Given the description of an element on the screen output the (x, y) to click on. 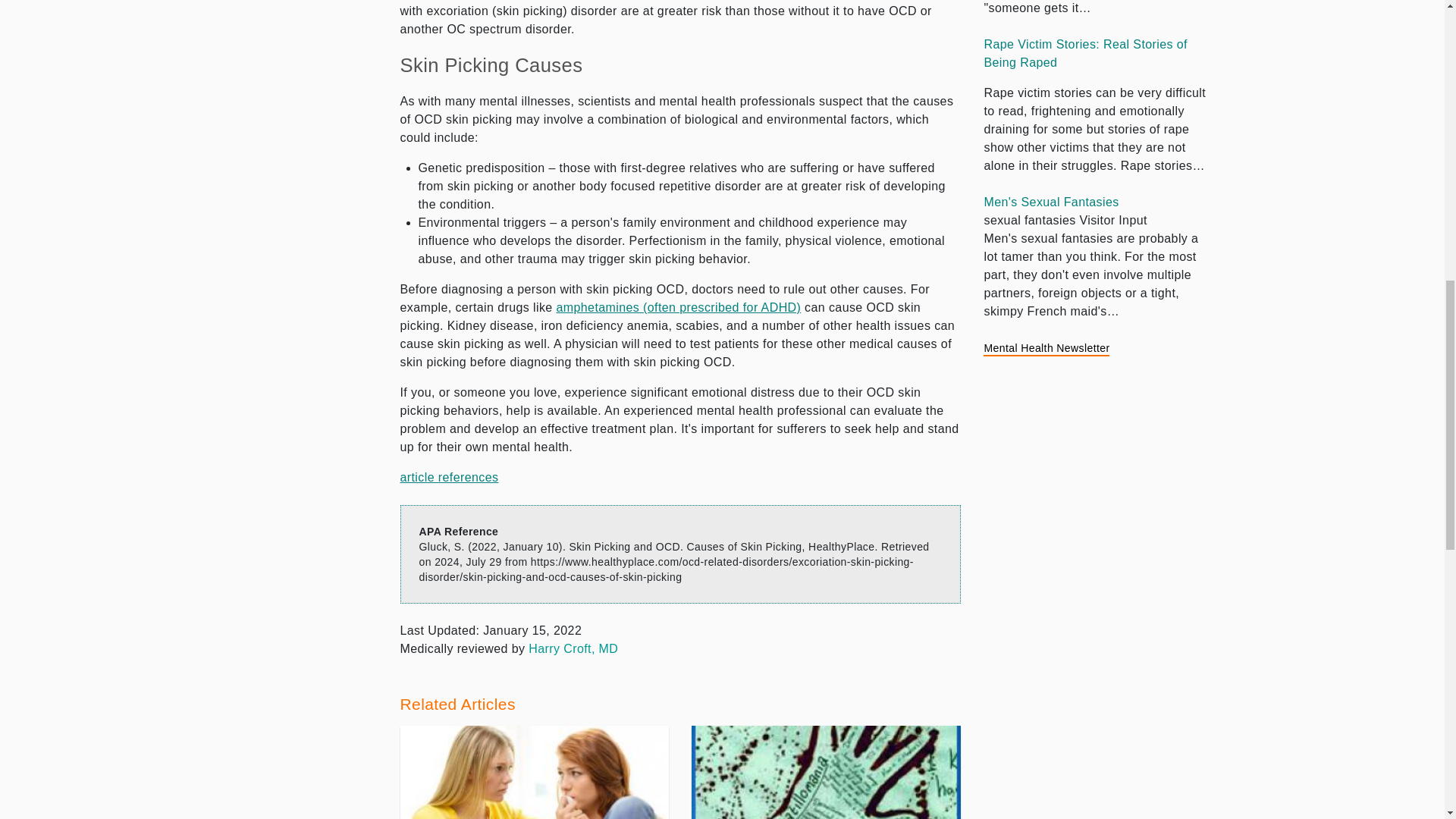
ADHD Treatments: Treatment for Attention Deficit Disorder (678, 307)
